Given the description of an element on the screen output the (x, y) to click on. 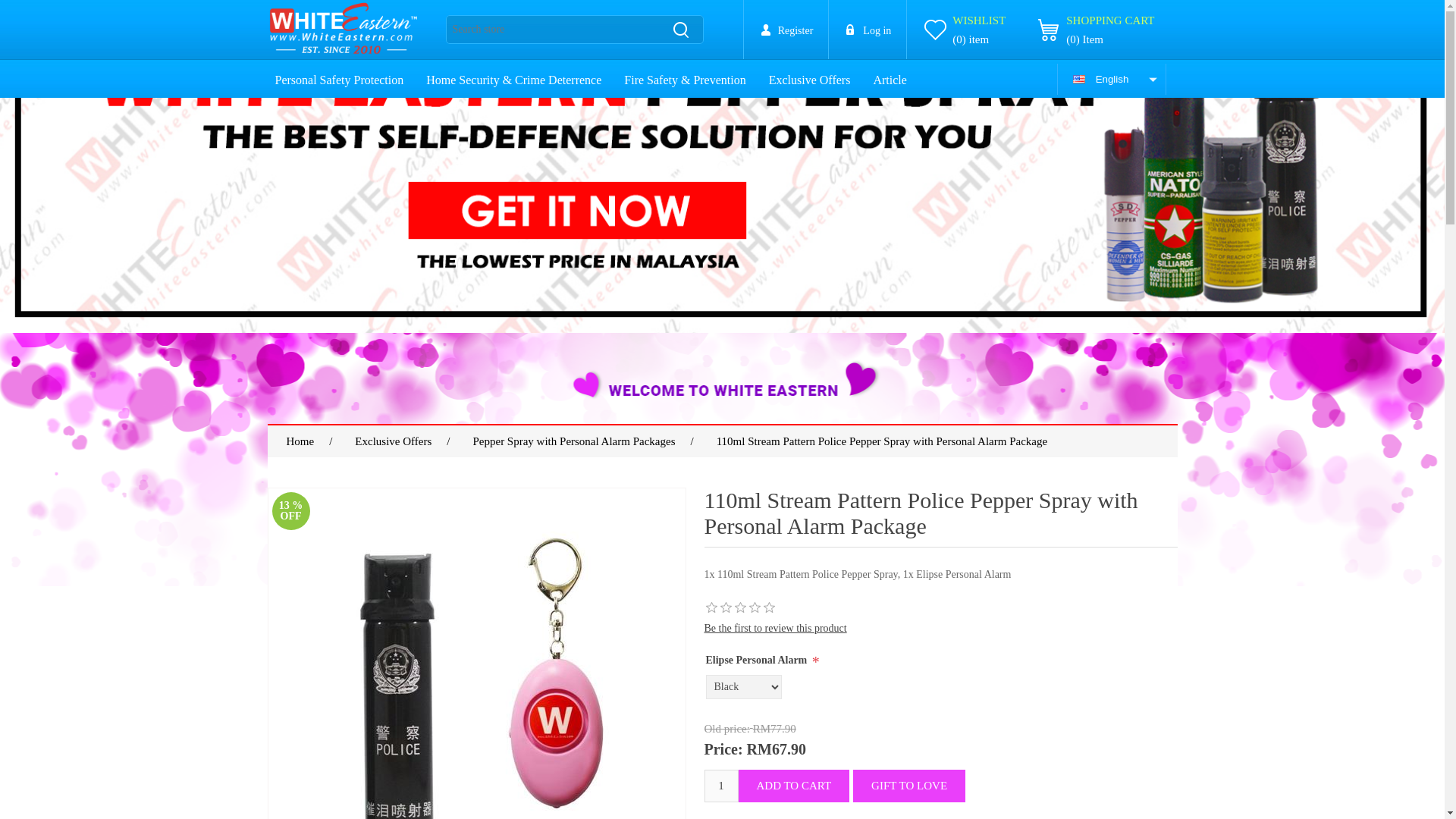
Personal Safety Protection (338, 79)
1 (720, 785)
Gift To Love (909, 785)
Article (889, 79)
Add to cart (794, 785)
English (1111, 79)
Register (785, 29)
Exclusive Offers (810, 79)
Log in (867, 29)
